Given the description of an element on the screen output the (x, y) to click on. 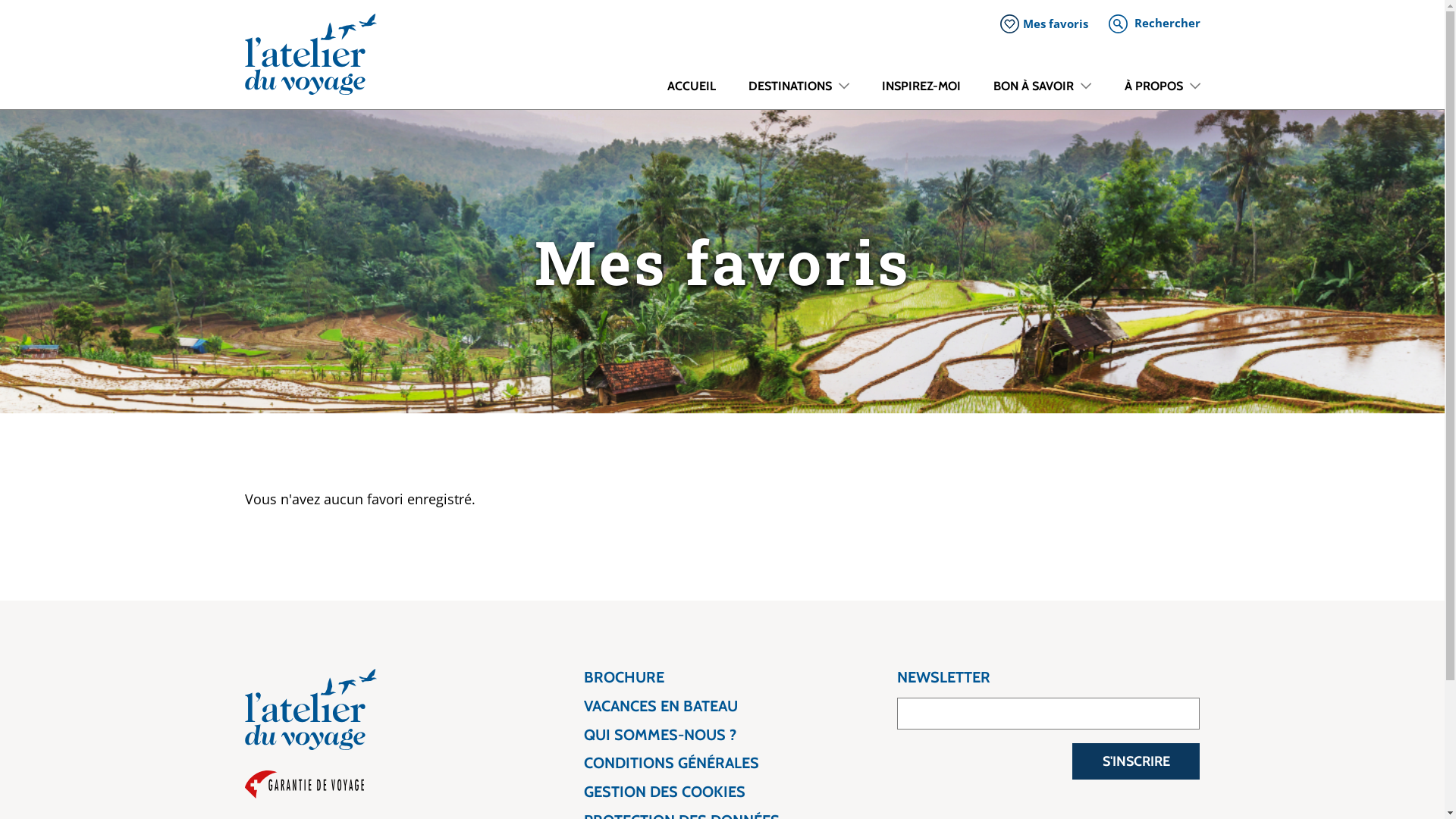
S'INSCRIRE Element type: text (1135, 761)
INSPIREZ-MOI Element type: text (921, 92)
QUI SOMMES-NOUS ? Element type: text (681, 734)
ACCUEIL Element type: text (690, 92)
DESTINATIONS Element type: text (798, 92)
Rechercher Element type: text (1154, 22)
GESTION DES COOKIES Element type: text (681, 791)
VACANCES EN BATEAU Element type: text (681, 706)
Mes favoris Element type: text (1047, 23)
BROCHURE Element type: text (681, 677)
